Given the description of an element on the screen output the (x, y) to click on. 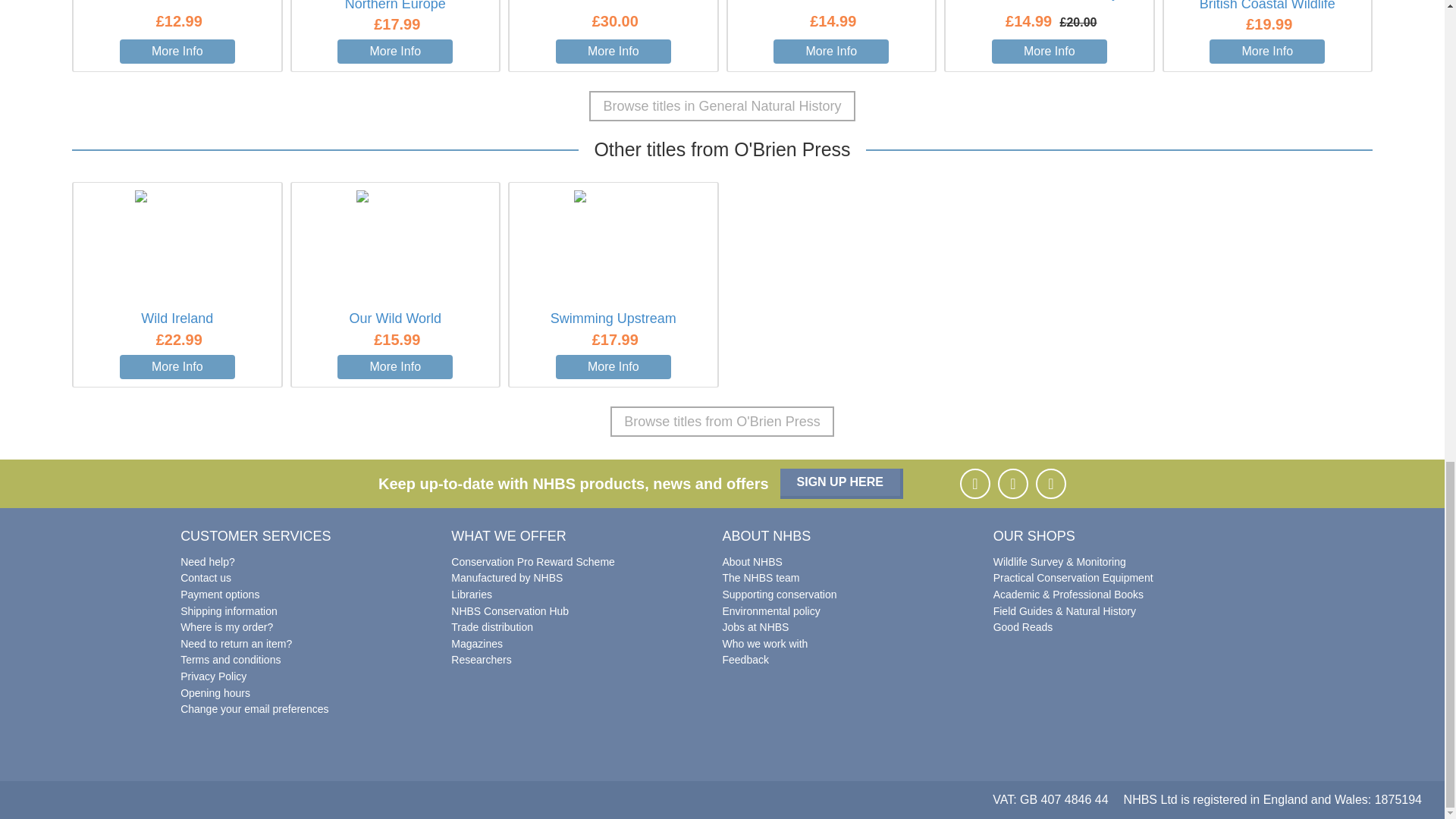
Follow us on Twitter (1050, 483)
Follow us on Instagram (1012, 483)
Sign up here (841, 483)
Follow us on Facebook (974, 483)
